Given the description of an element on the screen output the (x, y) to click on. 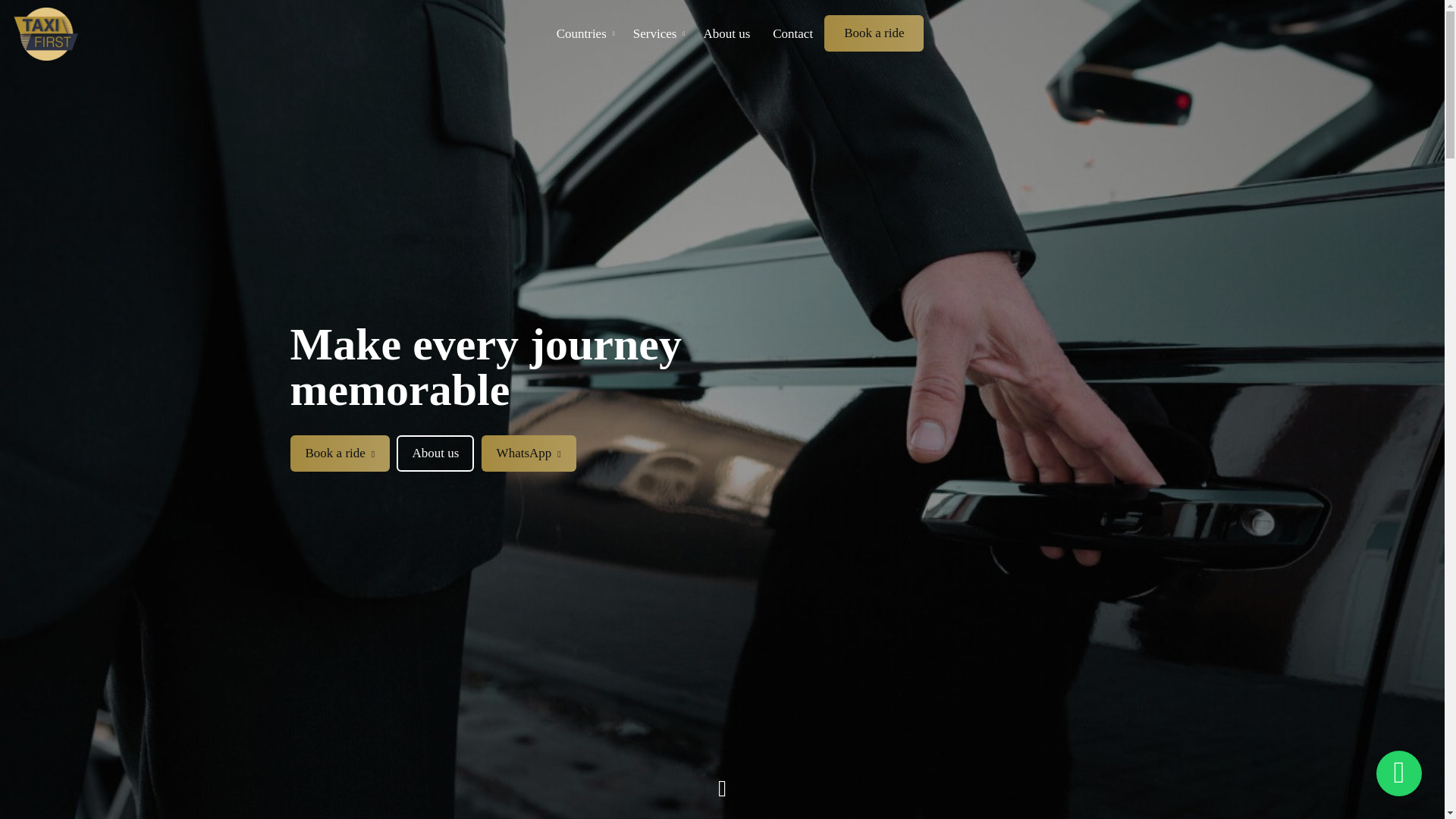
Luxury transportation (582, 34)
WhatsApp (528, 452)
Contact (792, 34)
About Taxi-First (435, 452)
Book a ride (873, 33)
About us (435, 452)
Services (657, 34)
Book your luxury taxi (873, 33)
About us (726, 34)
Contact (792, 34)
